Given the description of an element on the screen output the (x, y) to click on. 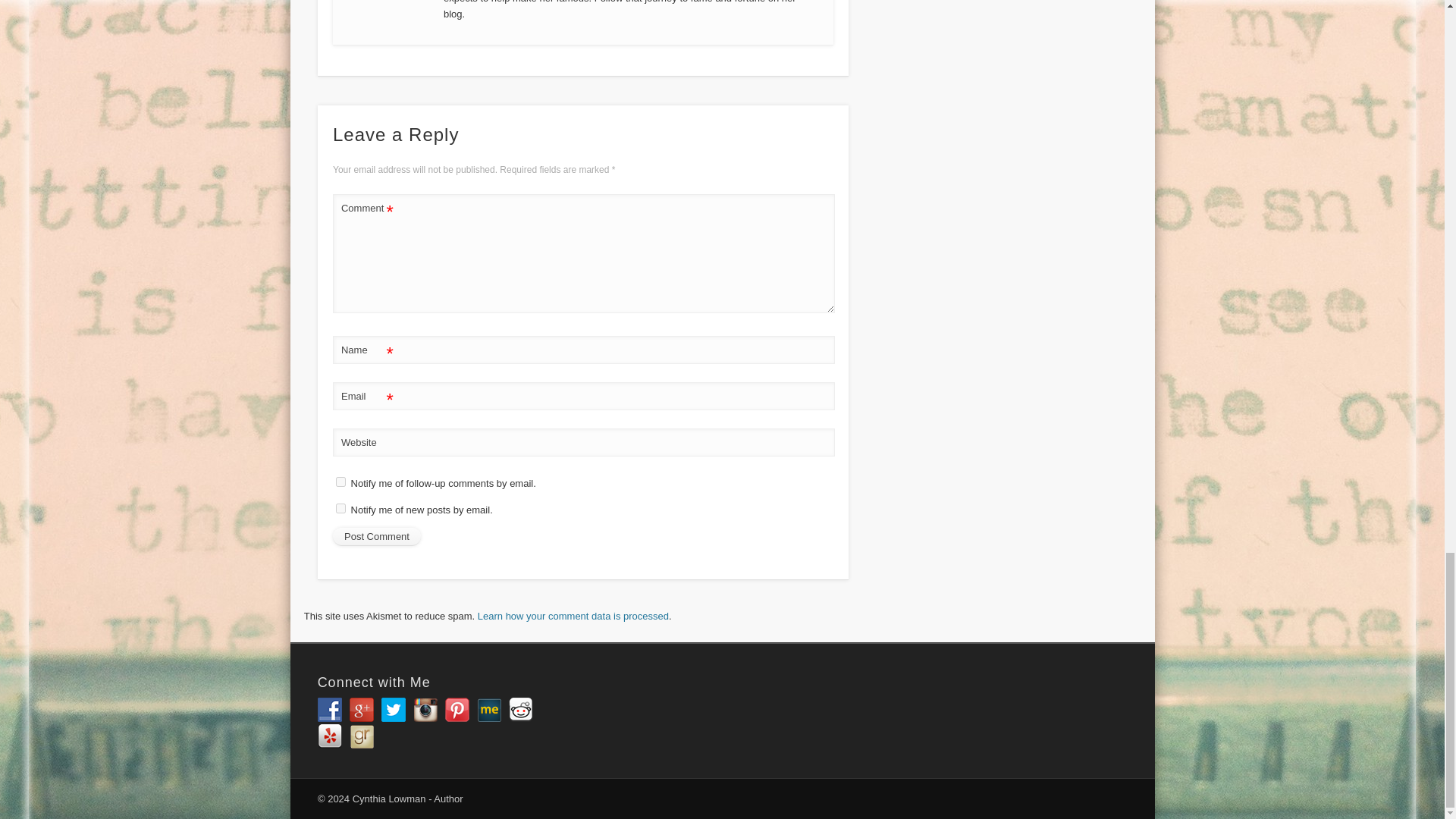
Learn how your comment data is processed (572, 615)
subscribe (341, 508)
Post Comment (376, 536)
Post Comment (376, 536)
subscribe (341, 481)
 Facebook (329, 709)
 Twitter (393, 709)
